Given the description of an element on the screen output the (x, y) to click on. 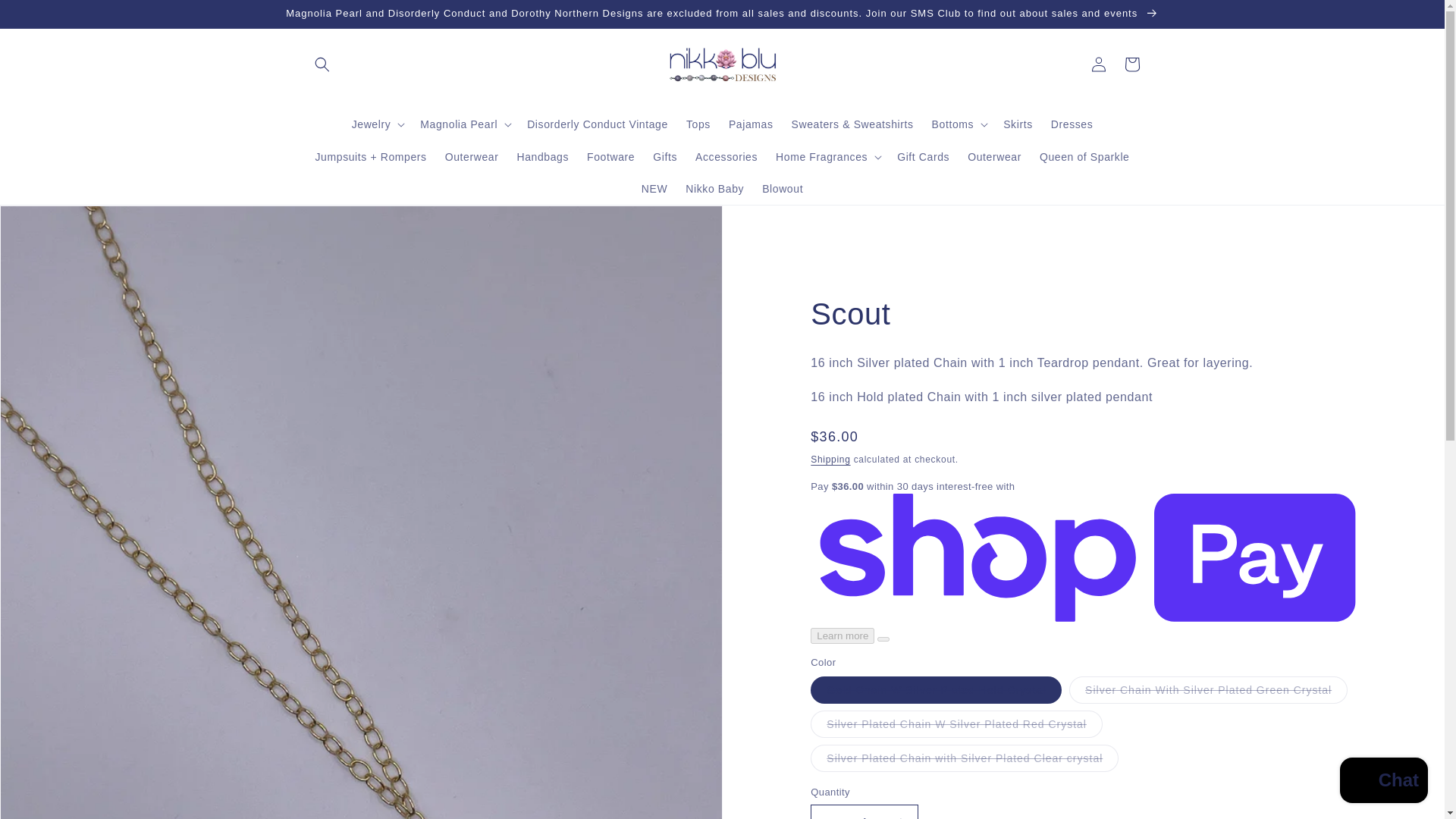
1 (864, 811)
Shopify online store chat (1383, 781)
Skip to content (45, 17)
